Given the description of an element on the screen output the (x, y) to click on. 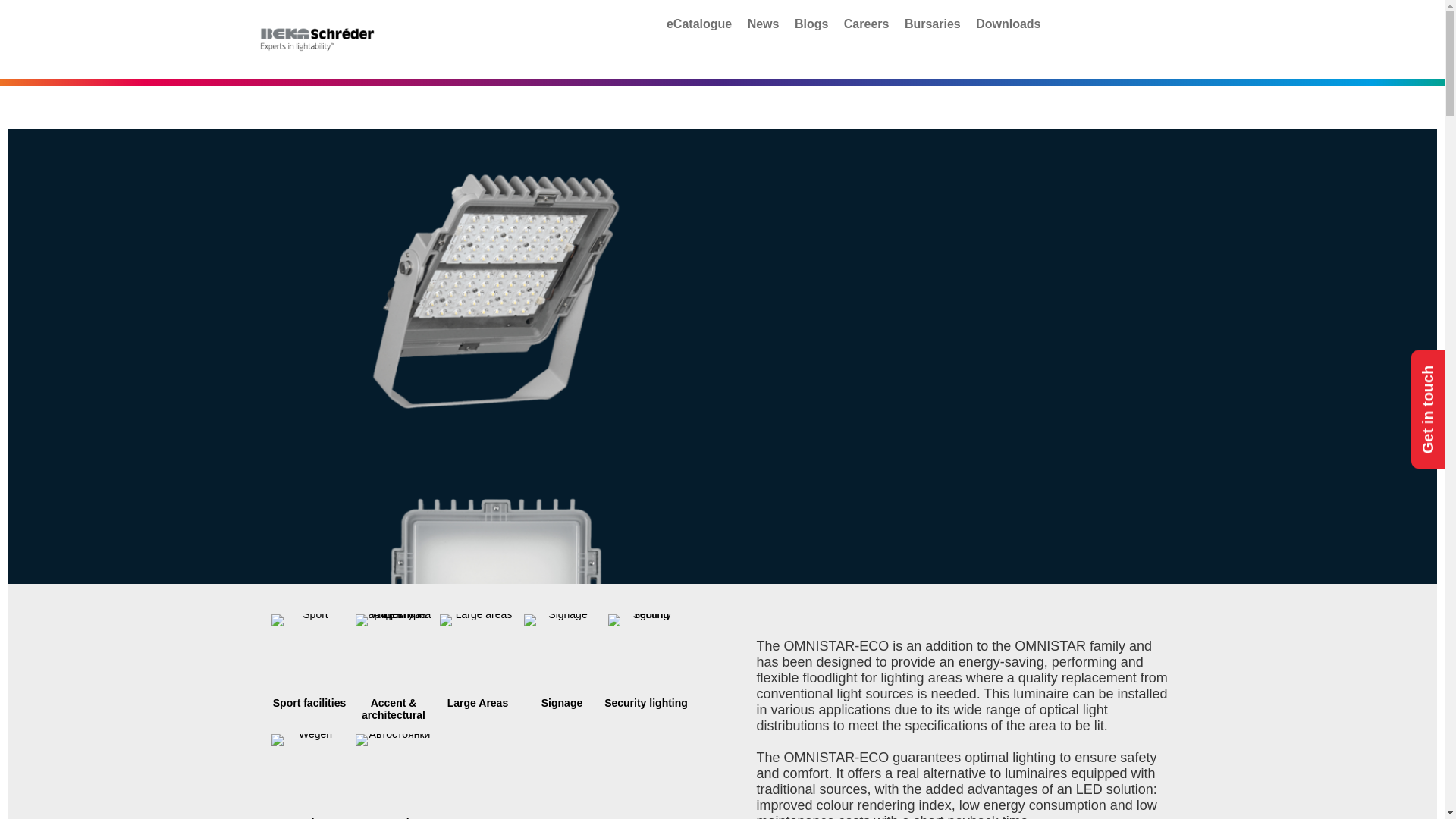
Bursaries (932, 24)
Careers (866, 24)
eCatalogue (699, 24)
News (763, 24)
Downloads (1008, 24)
Home (321, 39)
Blogs (811, 24)
